Given the description of an element on the screen output the (x, y) to click on. 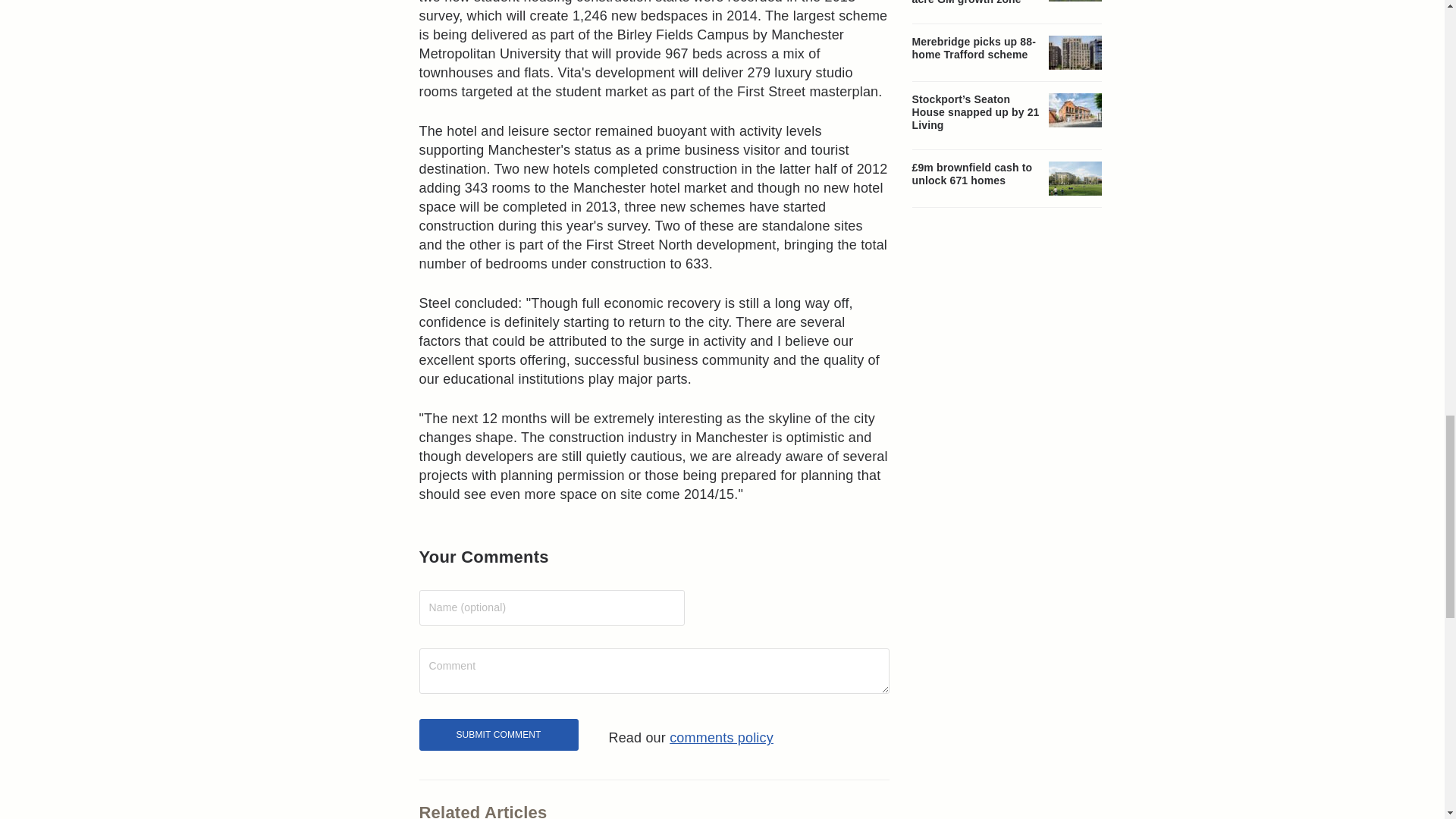
Submit Comment (498, 735)
